Given the description of an element on the screen output the (x, y) to click on. 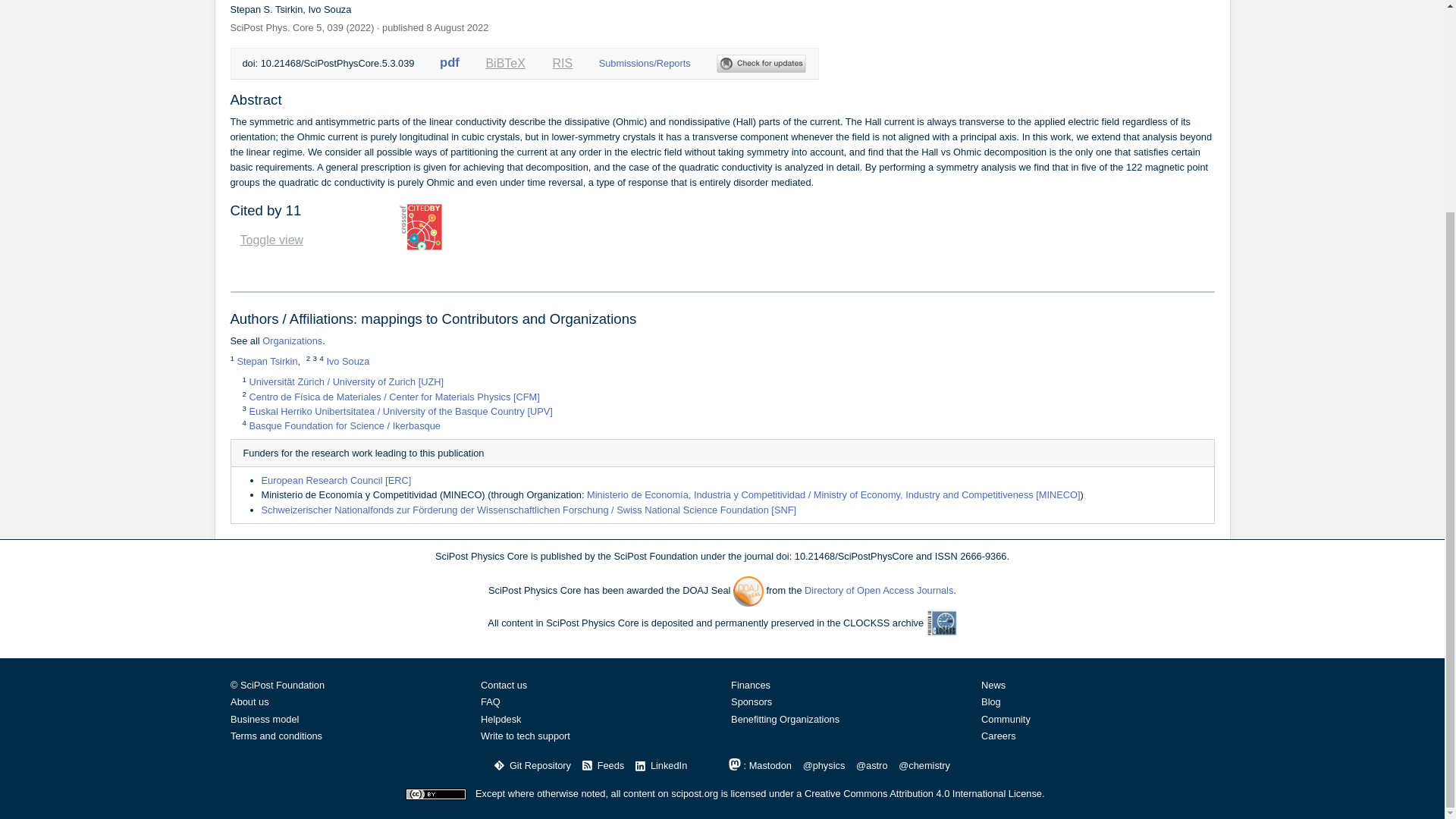
RIS (562, 63)
pdf (449, 62)
BiBTeX (504, 63)
Toggle view (272, 240)
